Given the description of an element on the screen output the (x, y) to click on. 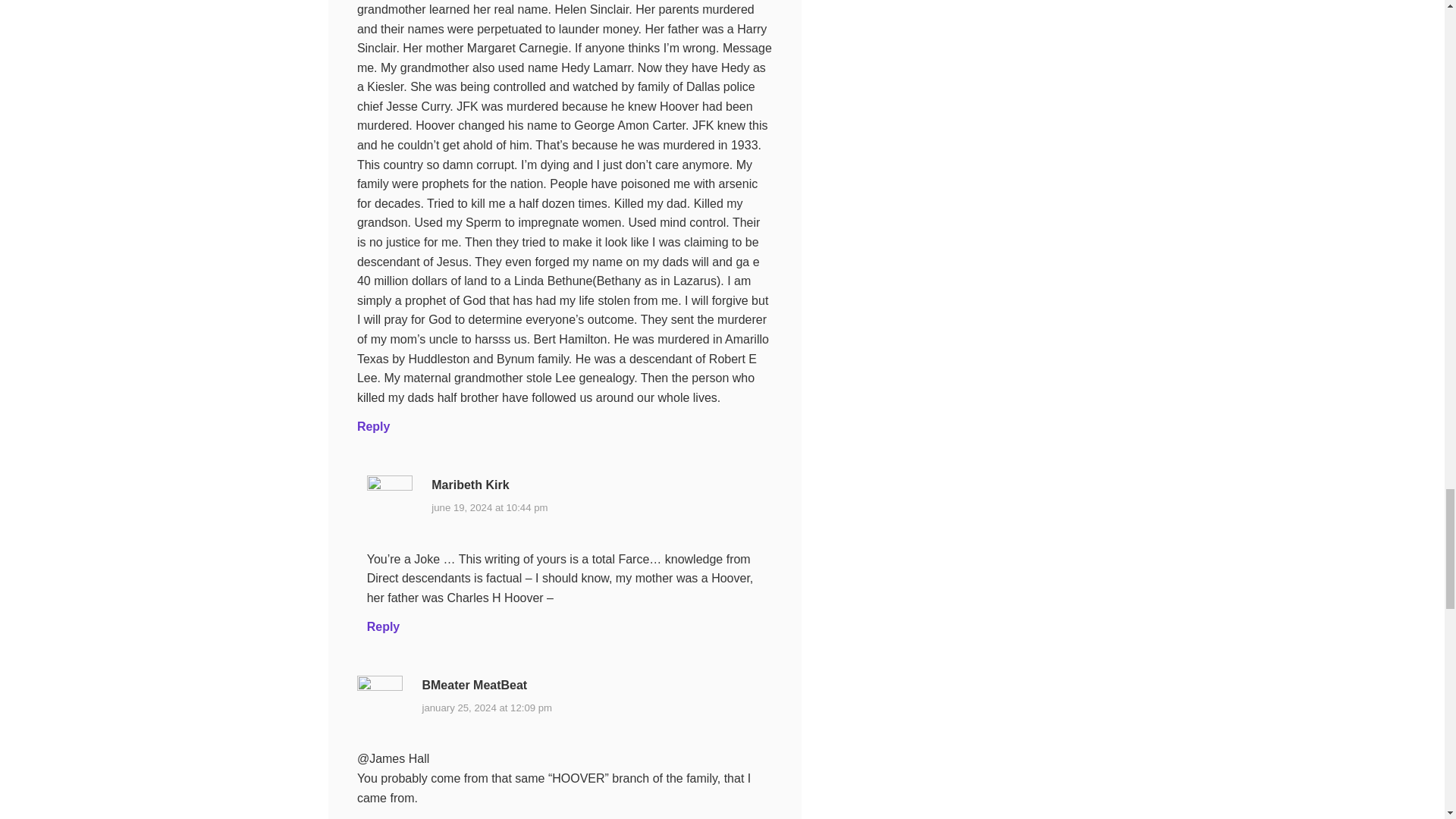
june 19, 2024 at 10:44 pm (488, 507)
Reply (373, 426)
Reply (383, 626)
january 25, 2024 at 12:09 pm (486, 707)
